Given the description of an element on the screen output the (x, y) to click on. 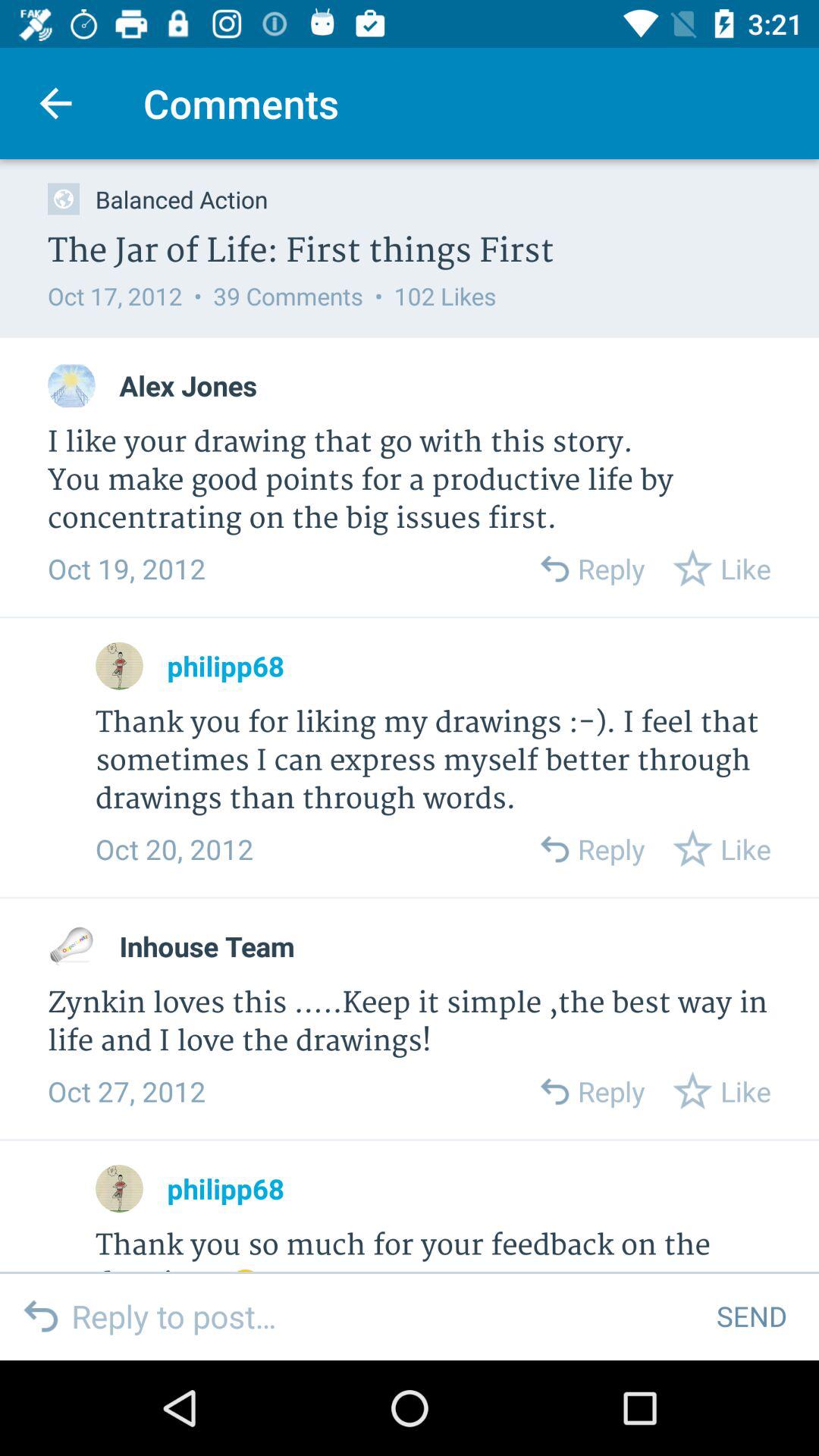
open the zynkin loves this (409, 1022)
